Given the description of an element on the screen output the (x, y) to click on. 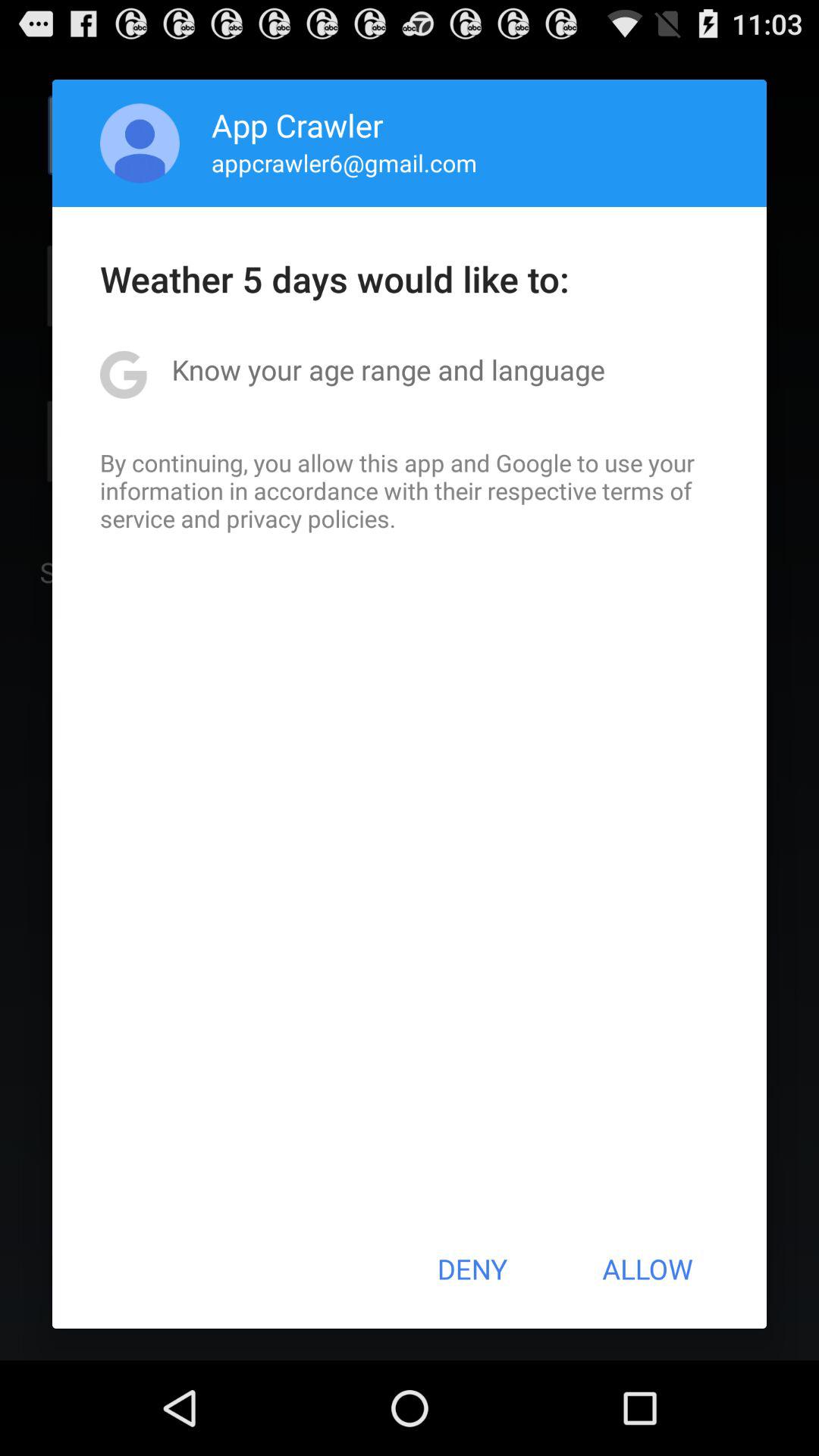
press the icon below the by continuing you (471, 1268)
